Given the description of an element on the screen output the (x, y) to click on. 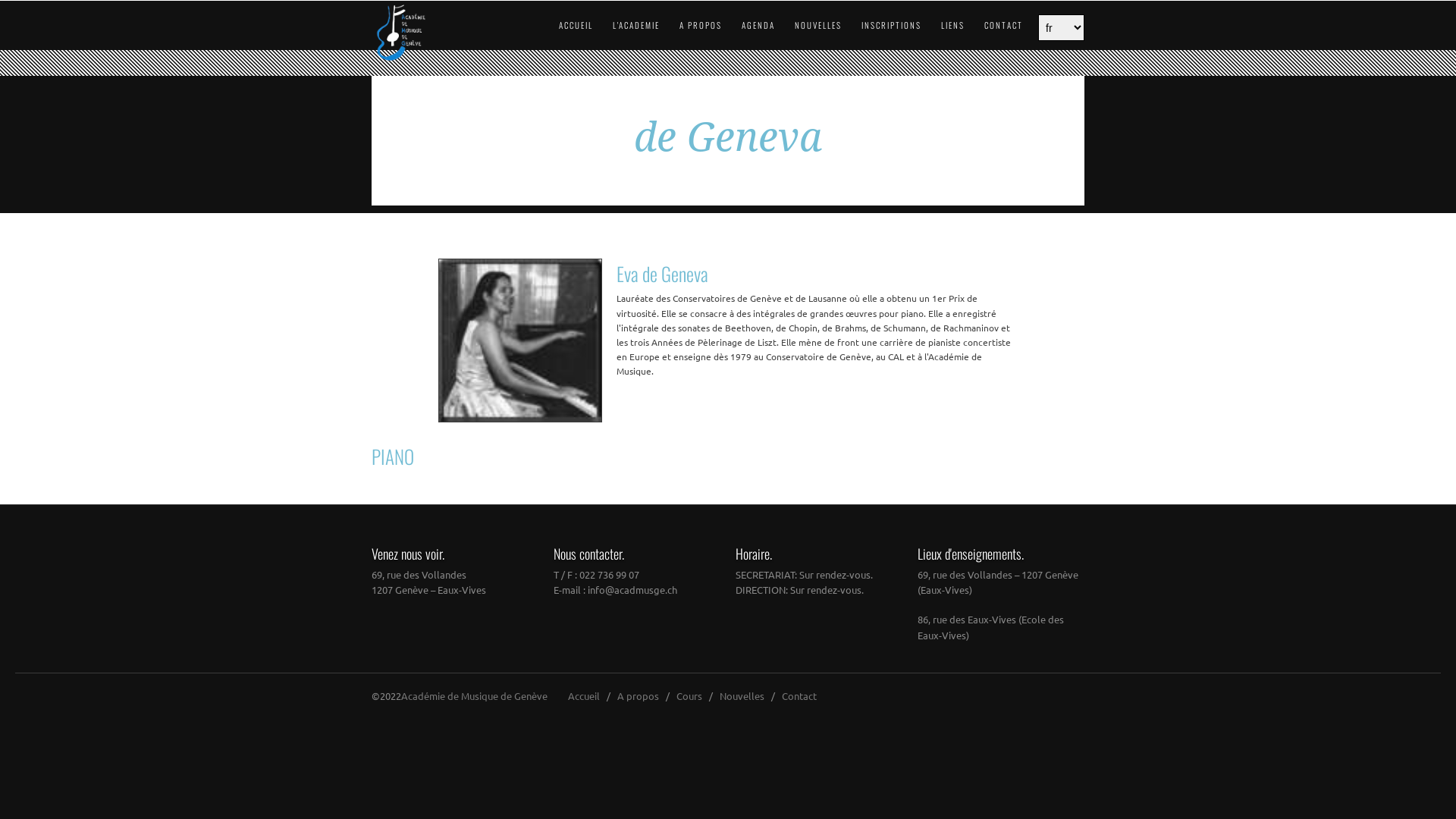
NOUVELLES Element type: text (808, 24)
Contact Element type: text (798, 695)
Cours Element type: text (689, 695)
ACCUEIL Element type: text (566, 24)
A PROPOS Element type: text (690, 24)
PIANO Element type: text (727, 456)
INSCRIPTIONS Element type: text (881, 24)
A propos Element type: text (637, 695)
Nouvelles Element type: text (741, 695)
Accueil Element type: text (583, 695)
AGENDA Element type: text (748, 24)
LIENS Element type: text (943, 24)
CONTACT Element type: text (993, 24)
